Given the description of an element on the screen output the (x, y) to click on. 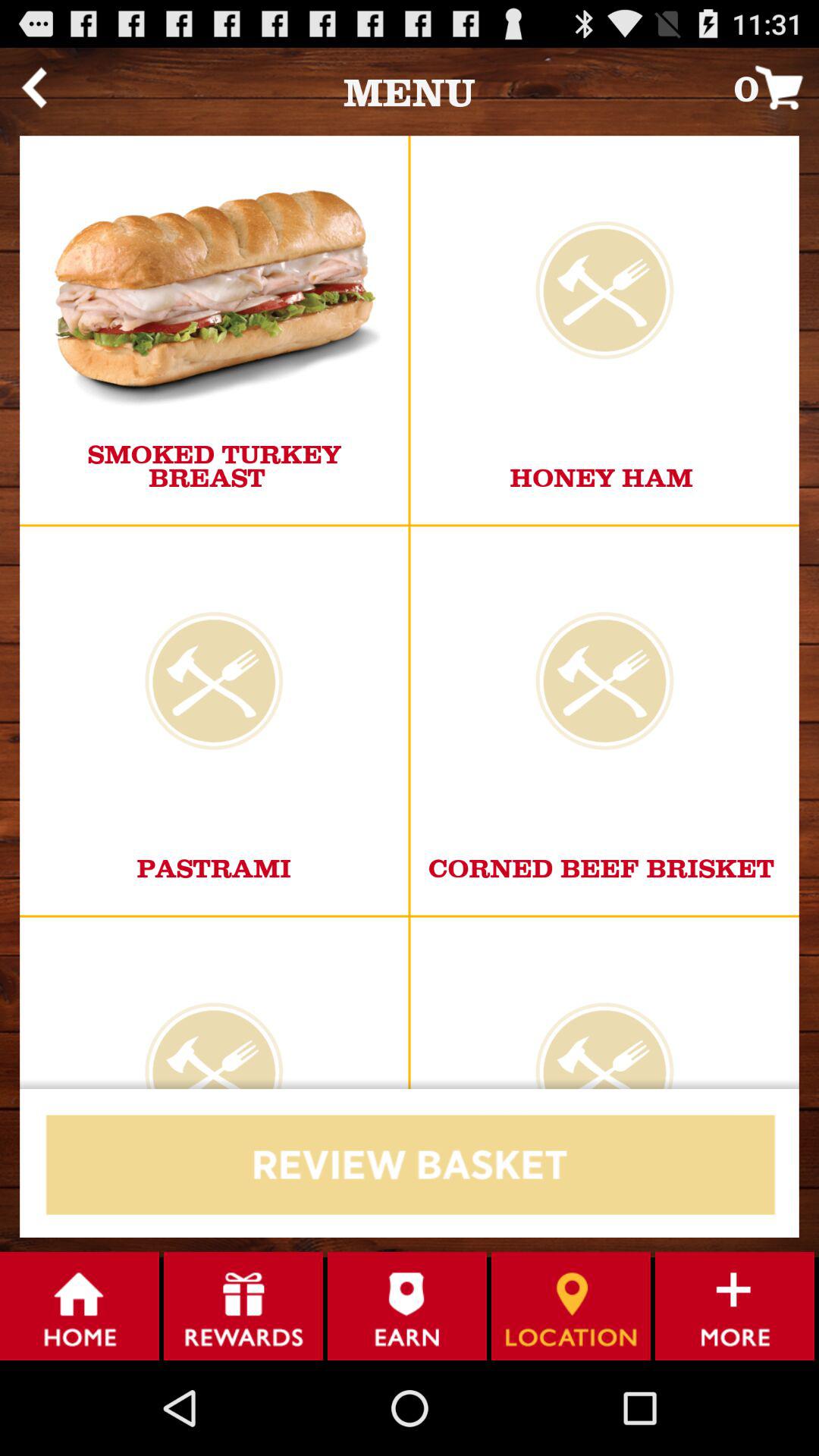
turn off 0 (776, 87)
